Given the description of an element on the screen output the (x, y) to click on. 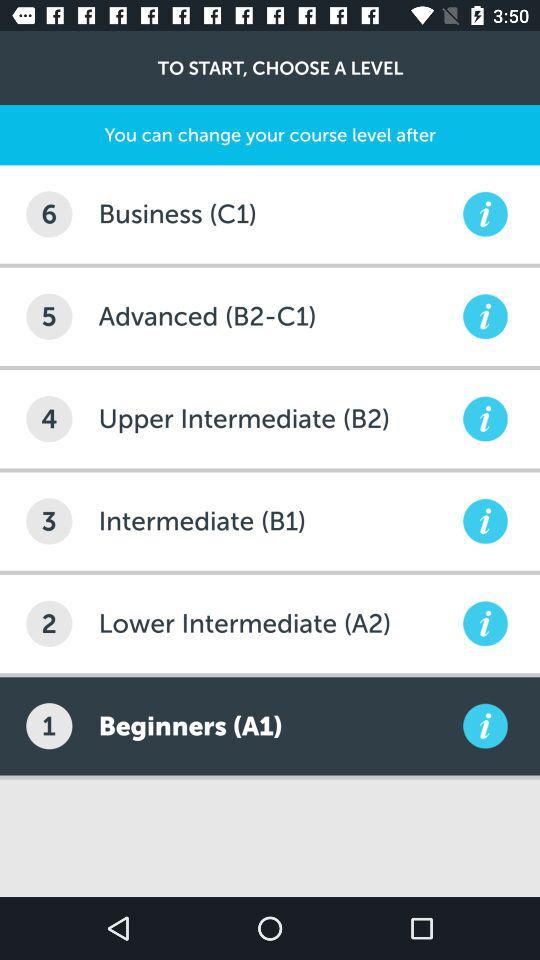
swipe to advanced (b2-c1) item (277, 316)
